Given the description of an element on the screen output the (x, y) to click on. 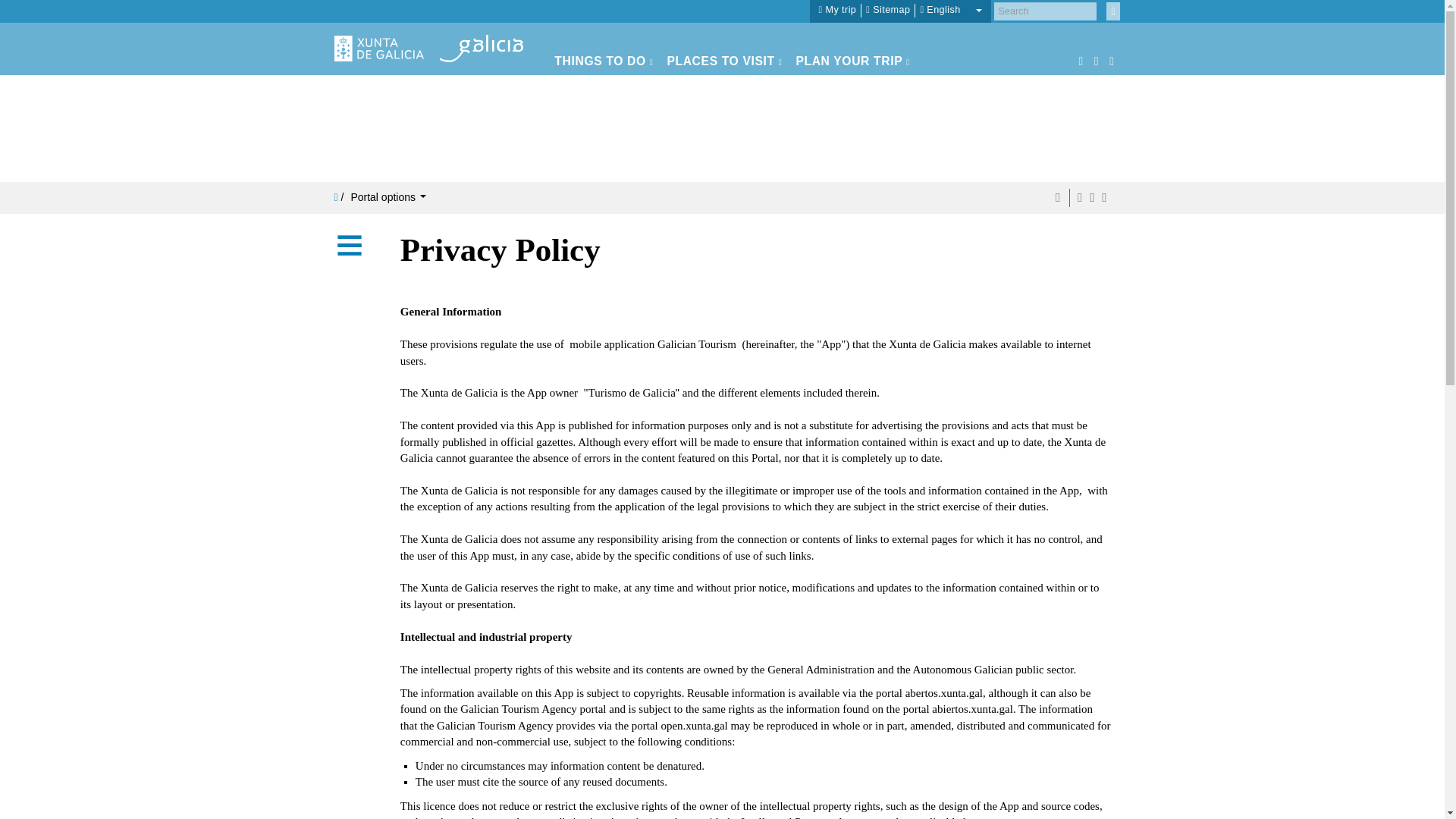
English (950, 9)
Sitemap (888, 9)
My trip (837, 9)
THINGS TO DO (604, 60)
